Given the description of an element on the screen output the (x, y) to click on. 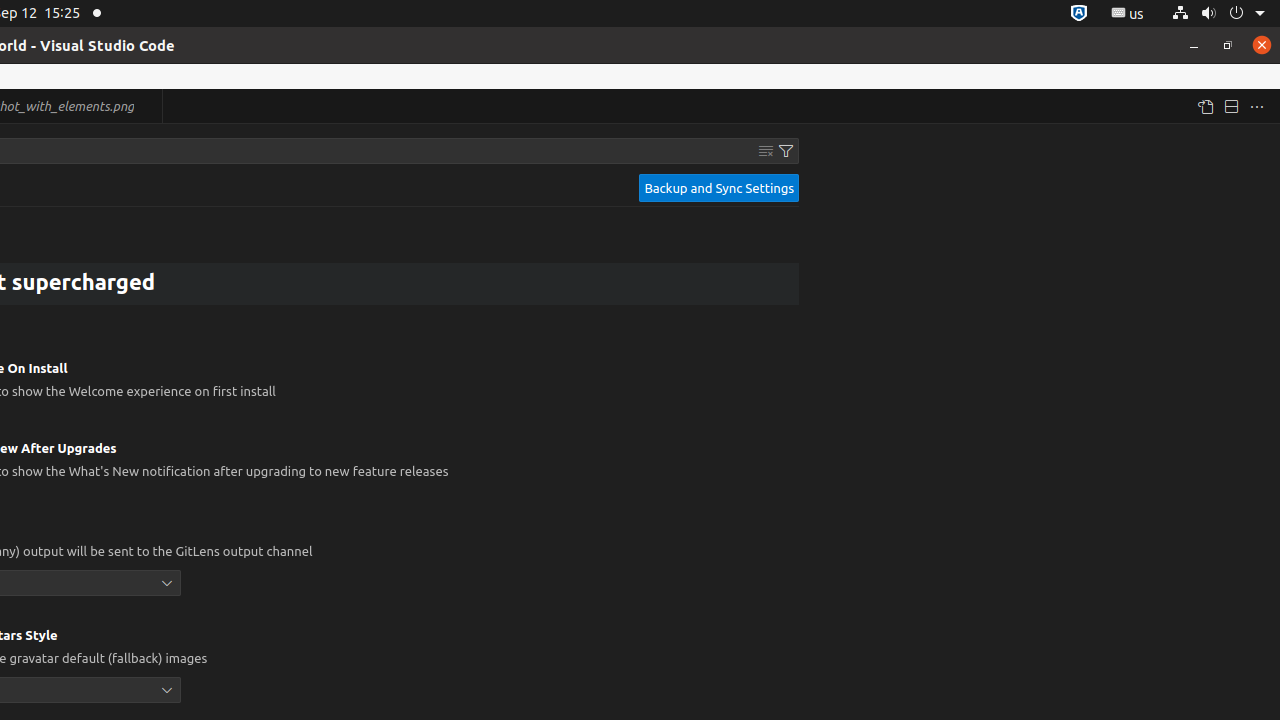
Clear Settings Search Input Element type: push-button (766, 151)
Backup and Sync Settings Element type: push-button (719, 188)
Close (Ctrl+W) Element type: push-button (148, 106)
More Actions... Element type: push-button (1257, 106)
